Given the description of an element on the screen output the (x, y) to click on. 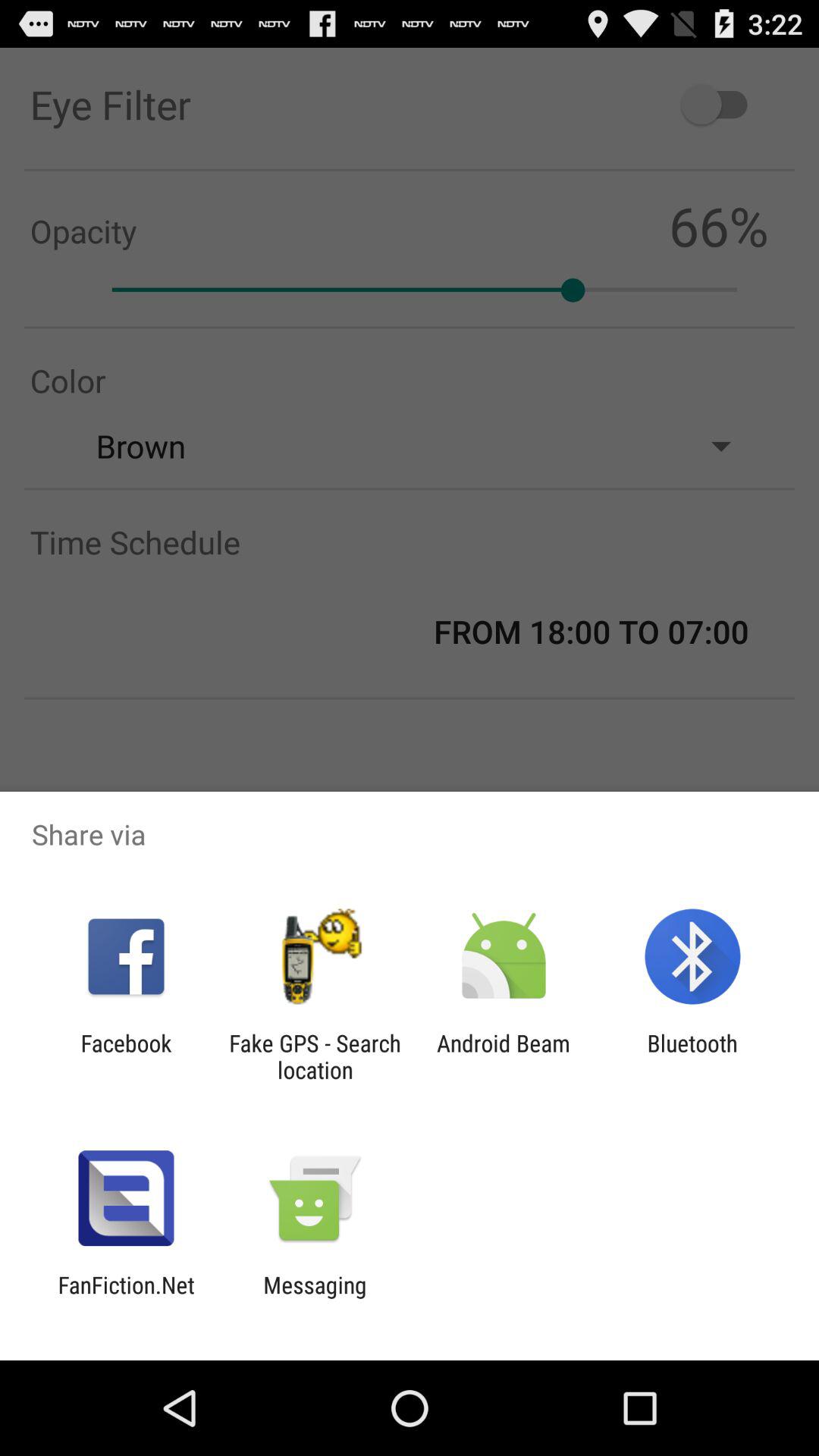
scroll until the facebook app (125, 1056)
